Given the description of an element on the screen output the (x, y) to click on. 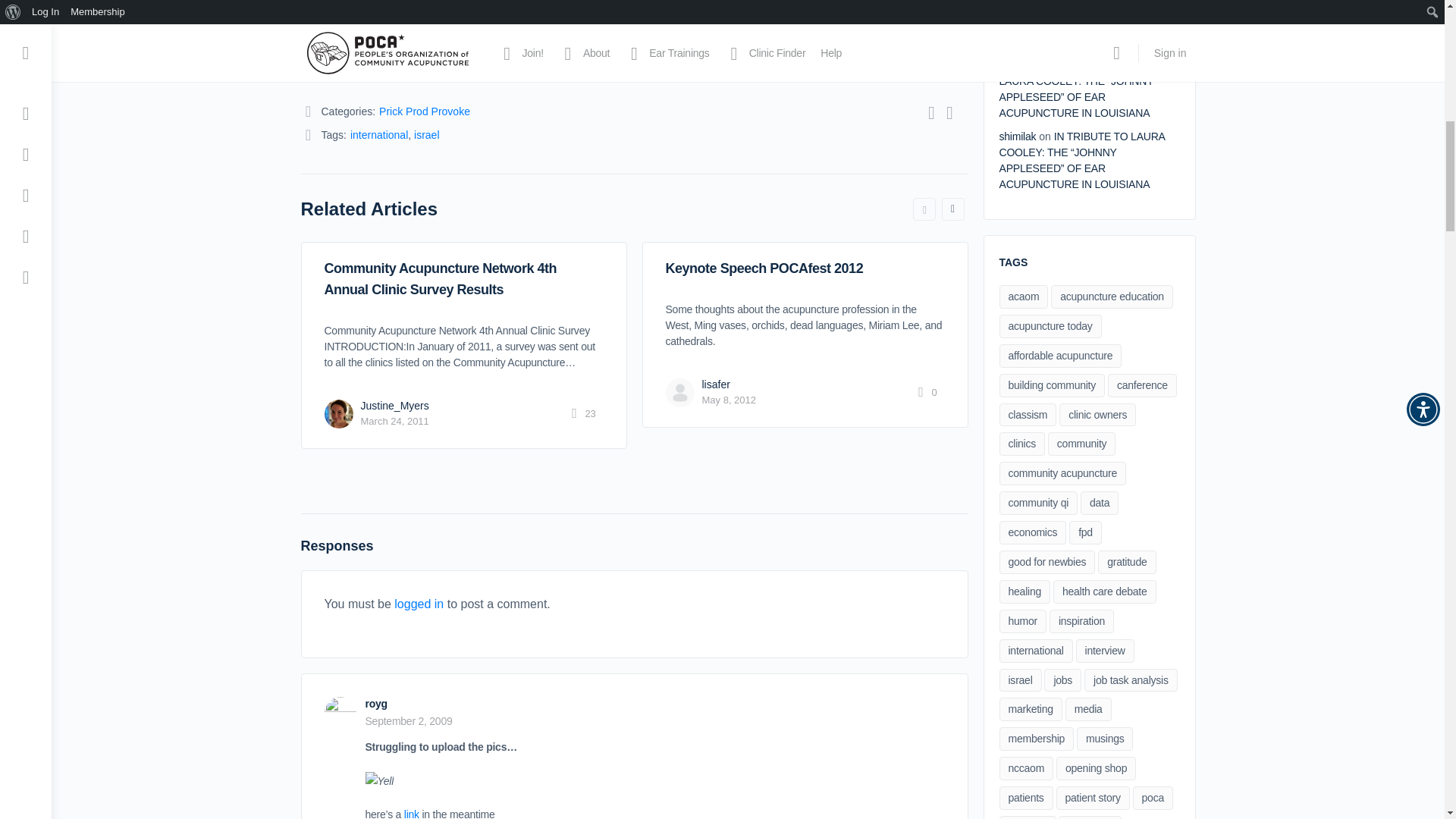
Yell (379, 781)
